Given the description of an element on the screen output the (x, y) to click on. 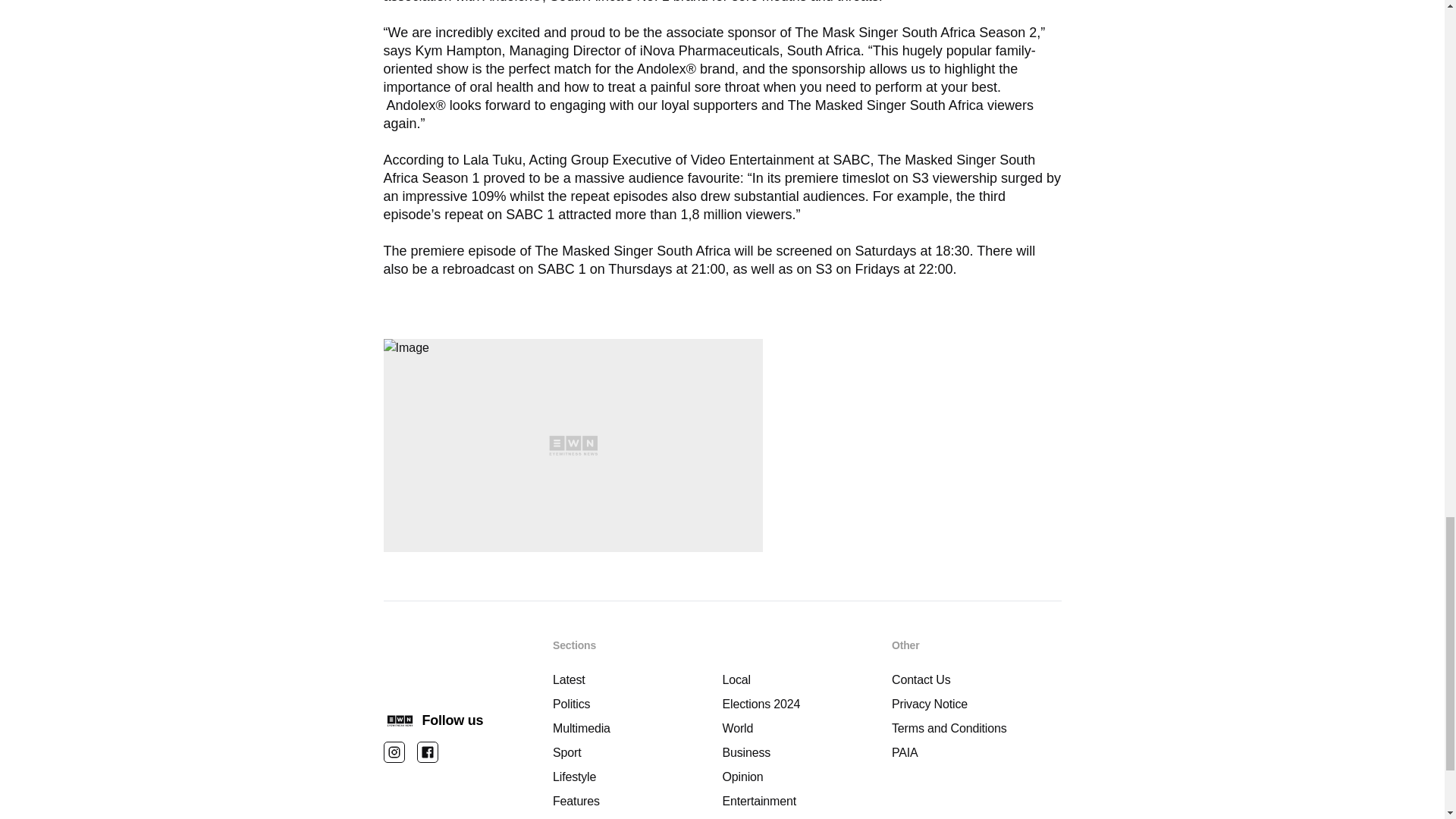
Lifestyle (637, 777)
Local (806, 679)
Privacy Notice (976, 704)
Latest (637, 679)
PAIA (976, 752)
Image (573, 445)
Podcasts (806, 817)
Contact Us (976, 679)
Sport (637, 752)
Opinion (806, 777)
Elections 2024 (806, 704)
Features (637, 801)
Politics (637, 704)
Multimedia (637, 728)
Terms and Conditions (976, 728)
